Given the description of an element on the screen output the (x, y) to click on. 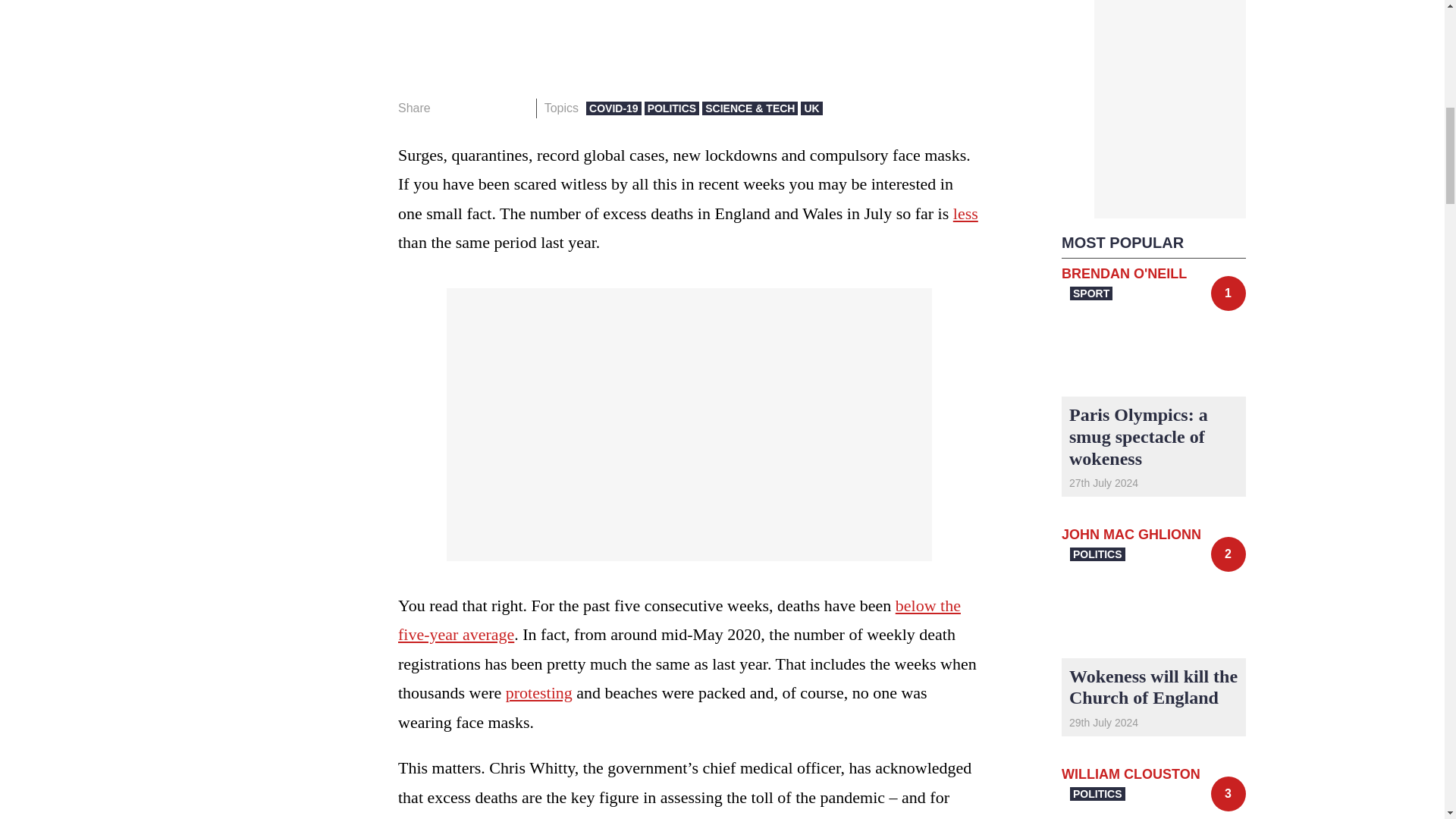
Share on Email (518, 107)
Share on Whatsapp (494, 107)
Share on Twitter (471, 107)
Share on Facebook (448, 107)
